Given the description of an element on the screen output the (x, y) to click on. 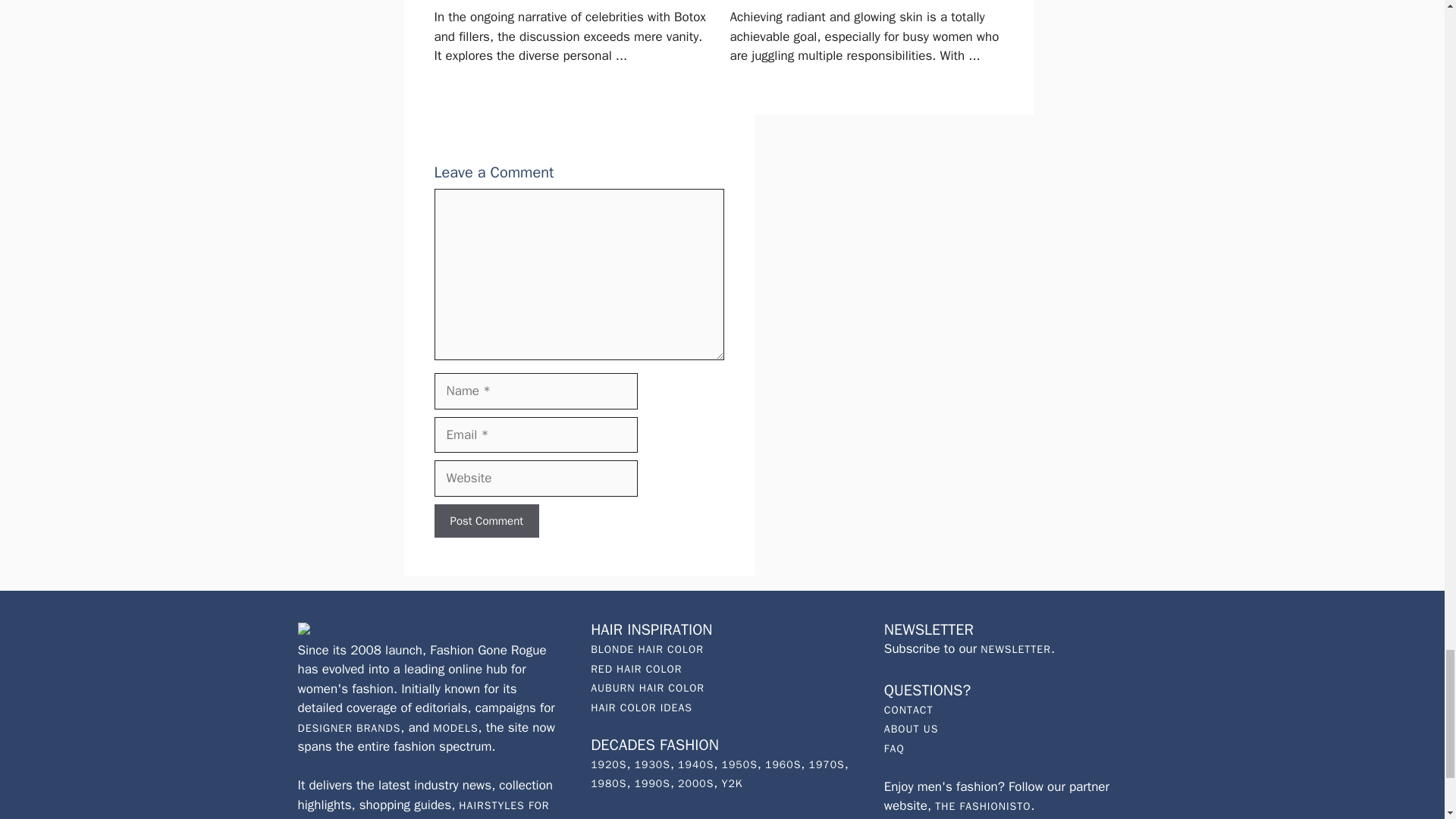
Post Comment (485, 521)
